Given the description of an element on the screen output the (x, y) to click on. 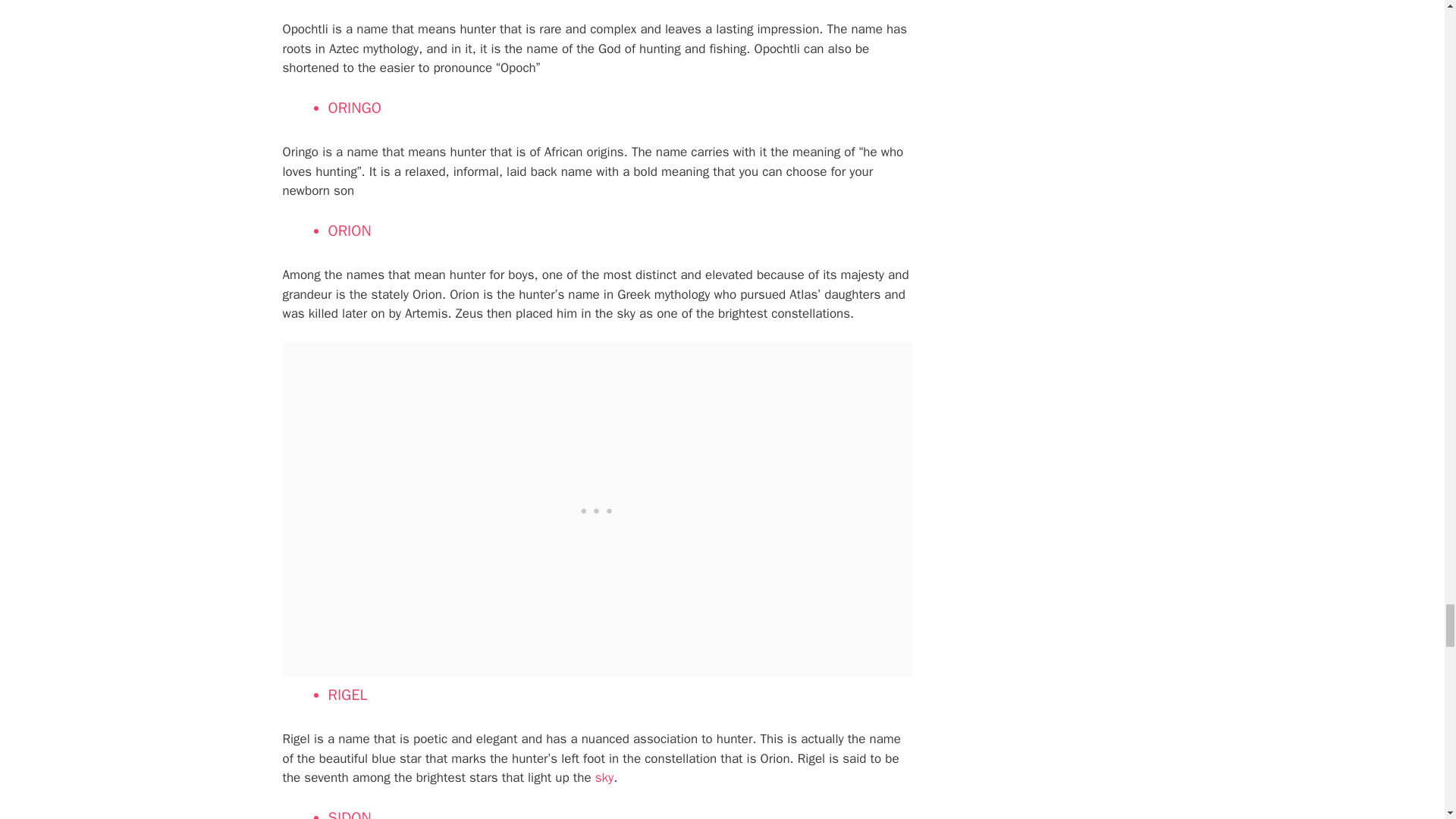
sky (602, 777)
